Given the description of an element on the screen output the (x, y) to click on. 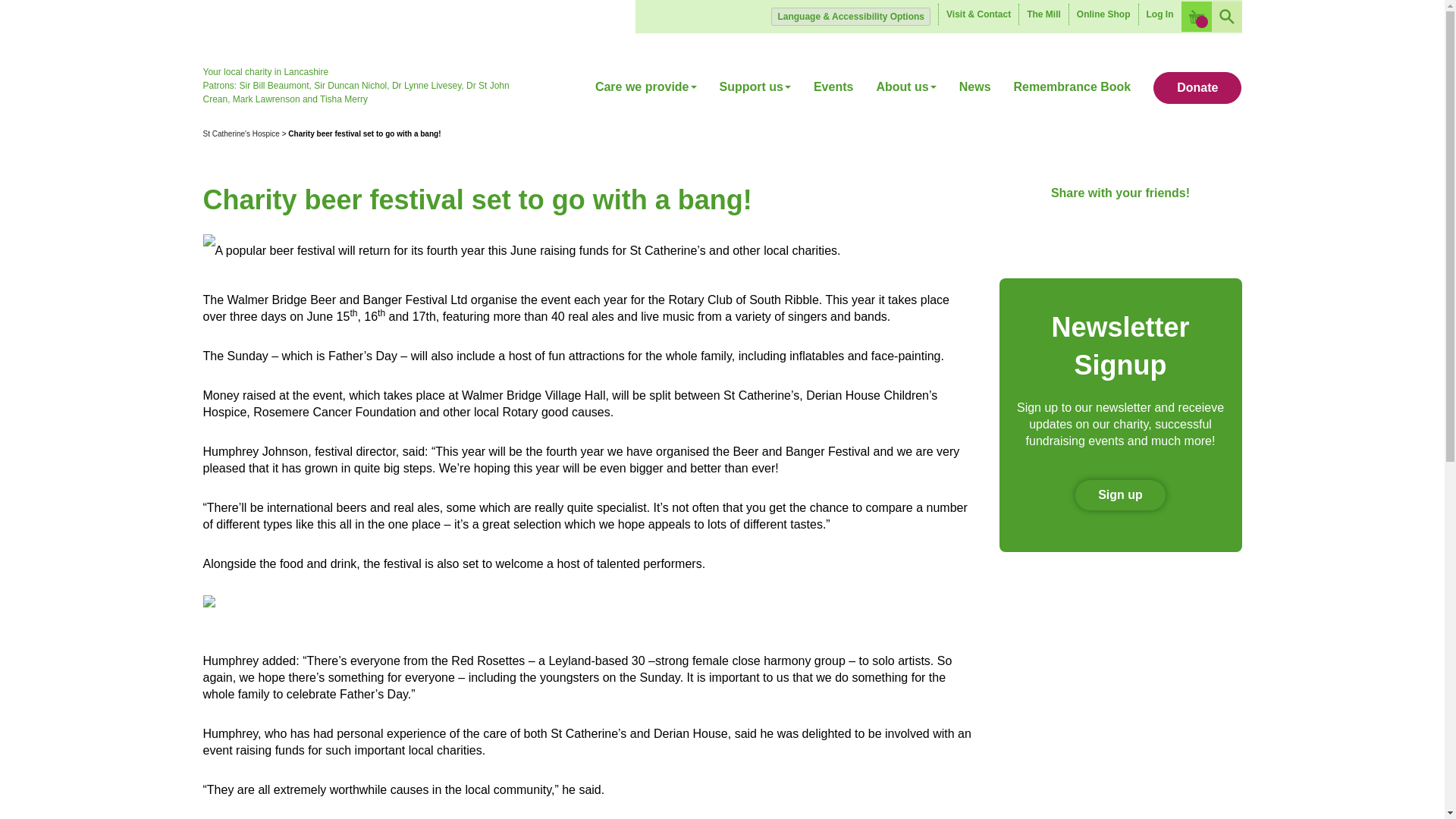
Care we provide (651, 92)
Support us (754, 92)
Online Shop (1103, 14)
The Mill (1043, 14)
Log In (1159, 14)
